Given the description of an element on the screen output the (x, y) to click on. 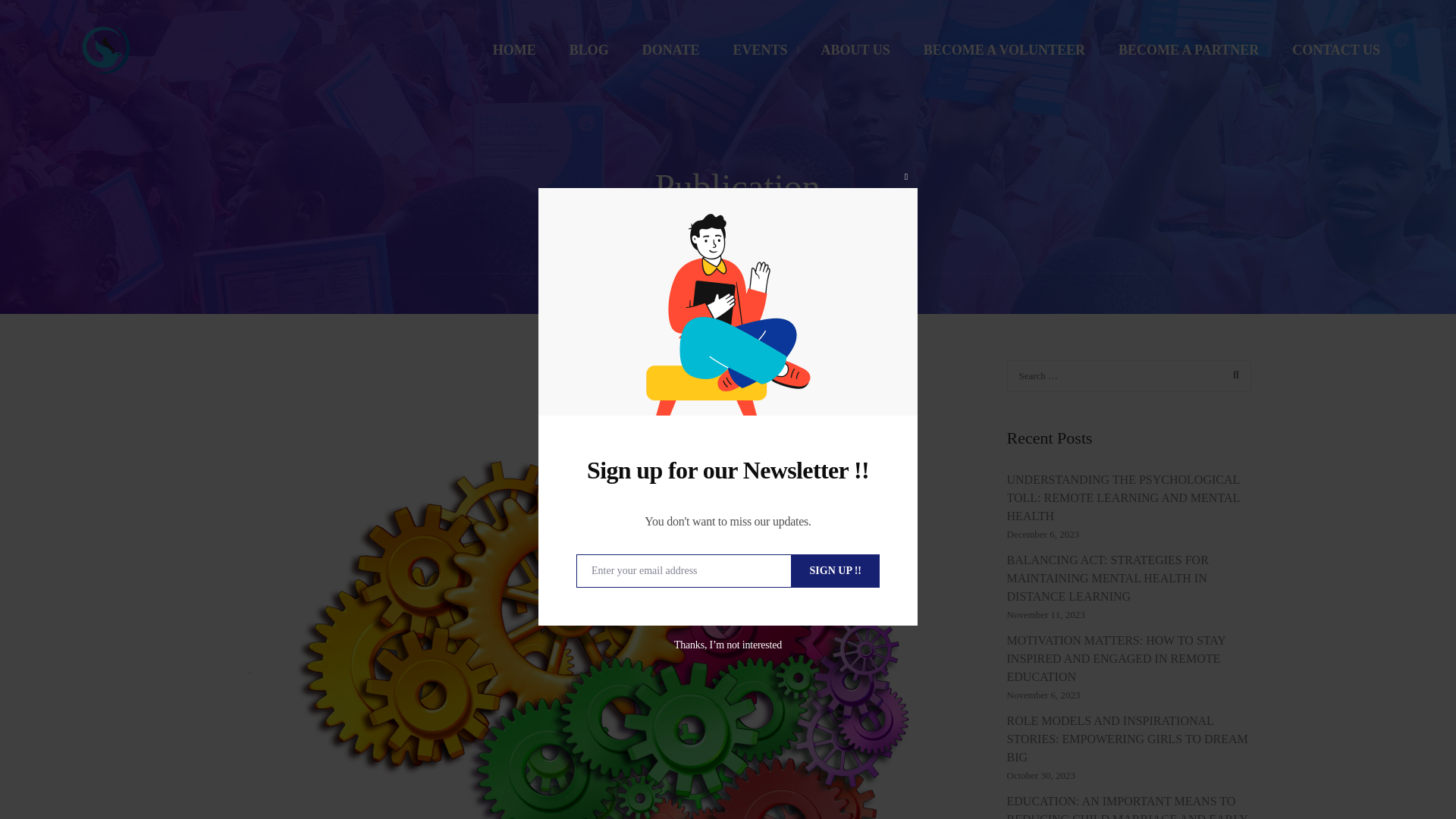
BECOME A VOLUNTEER (1004, 56)
Home (590, 293)
BECOME A PARTNER (1188, 56)
Search (1231, 375)
HOME (514, 56)
Search (1231, 375)
BLOG (589, 56)
CONTACT US (1328, 56)
DONATE (670, 56)
EVENTS (759, 56)
Blog (645, 293)
ABOUT US (855, 56)
